Given the description of an element on the screen output the (x, y) to click on. 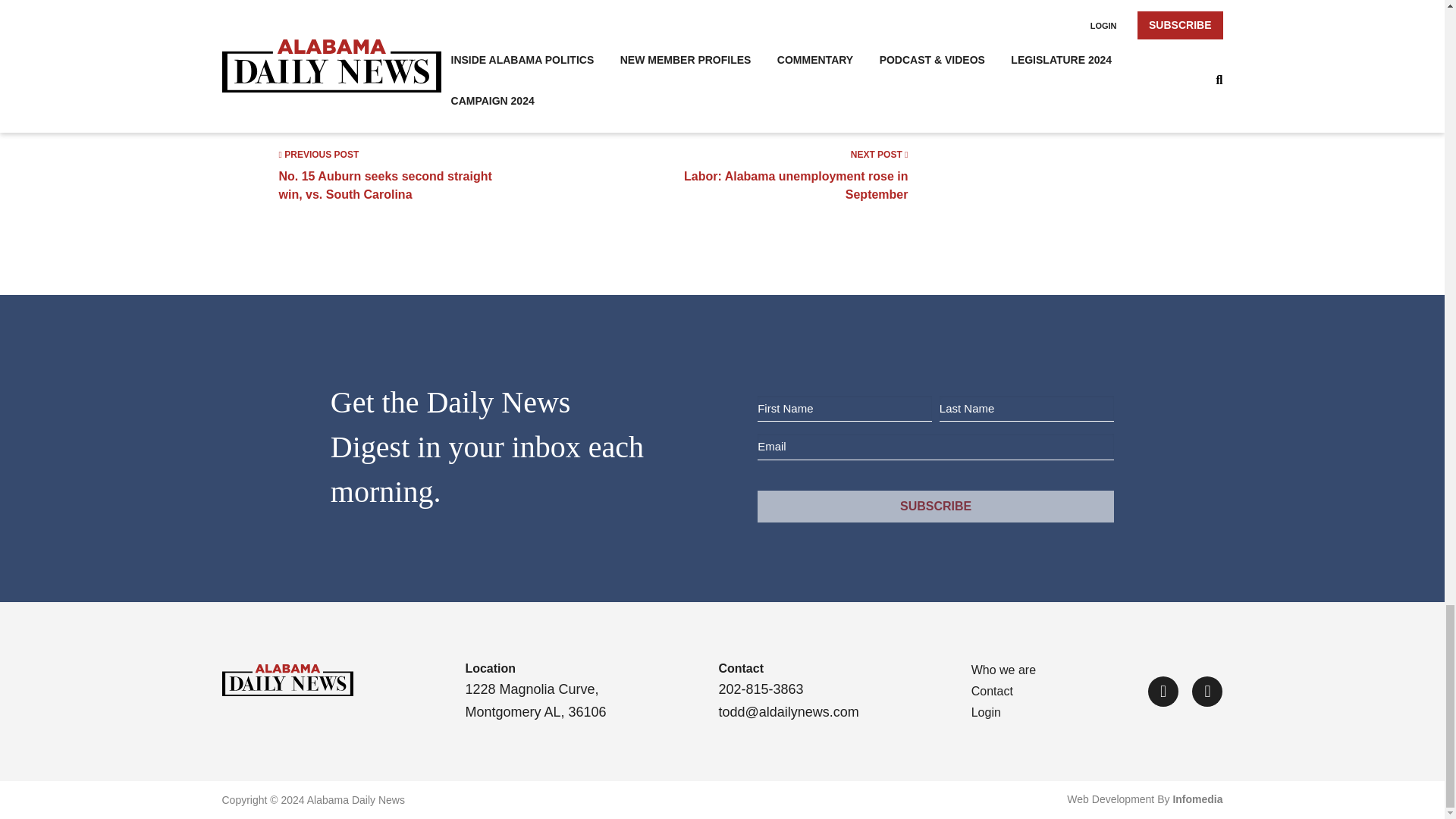
Subscribe (935, 506)
Facebook - AL Daily News (793, 174)
